Given the description of an element on the screen output the (x, y) to click on. 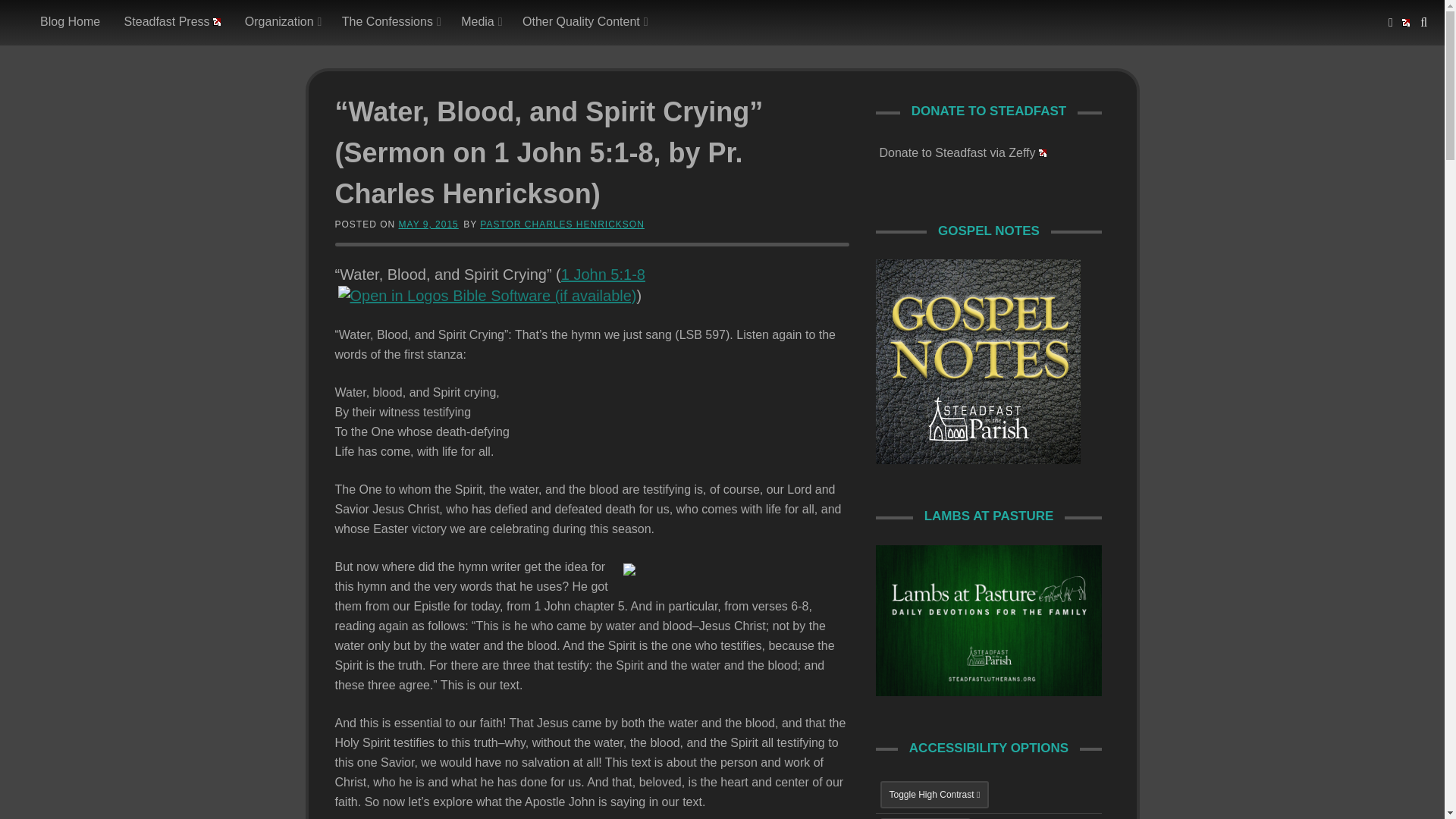
Blog Home (70, 22)
Steadfast Press (173, 22)
Other Quality Content (582, 22)
The Confessions (388, 22)
Organization (281, 22)
Media (479, 22)
